Given the description of an element on the screen output the (x, y) to click on. 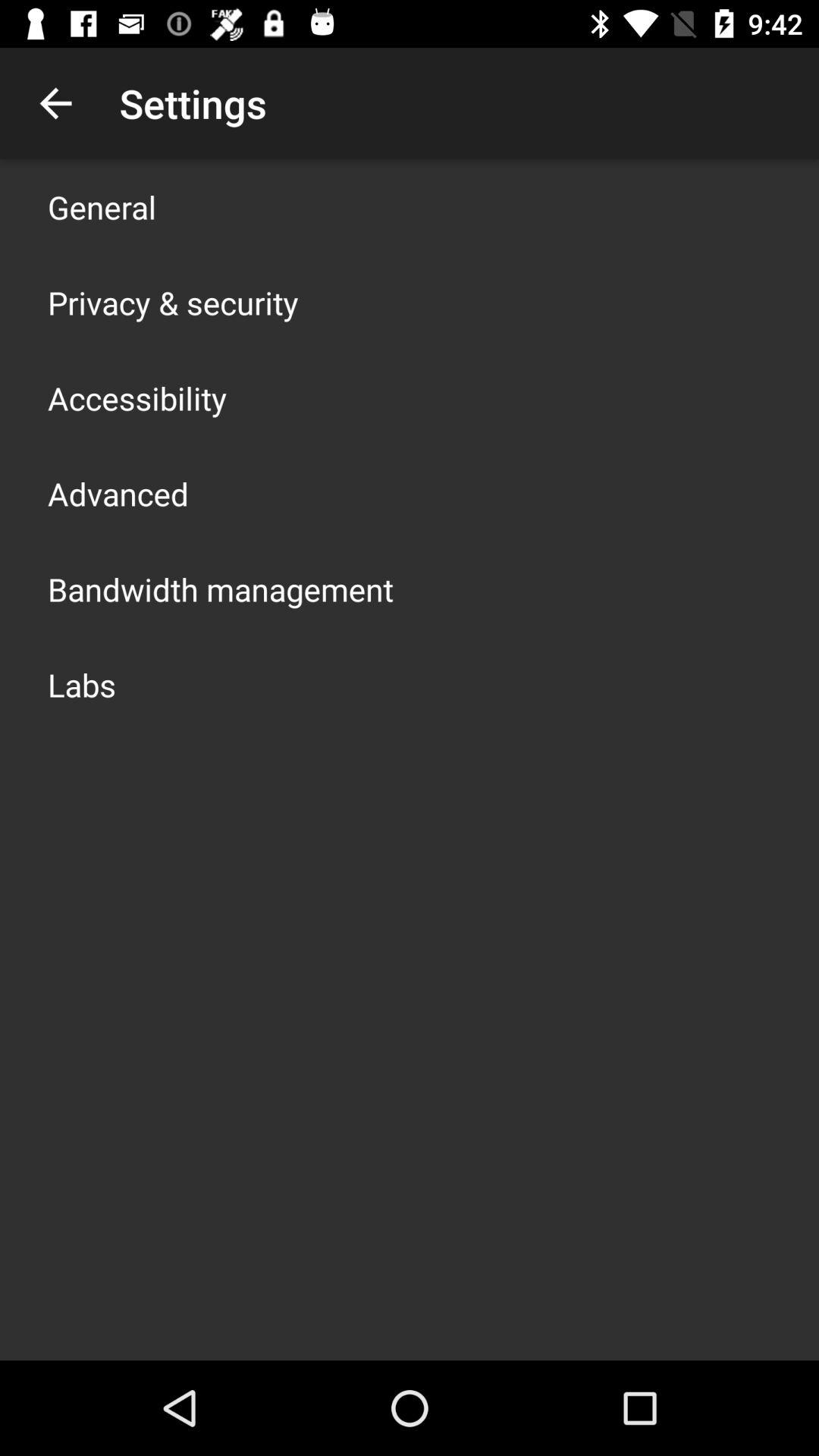
tap item below privacy & security app (136, 397)
